Given the description of an element on the screen output the (x, y) to click on. 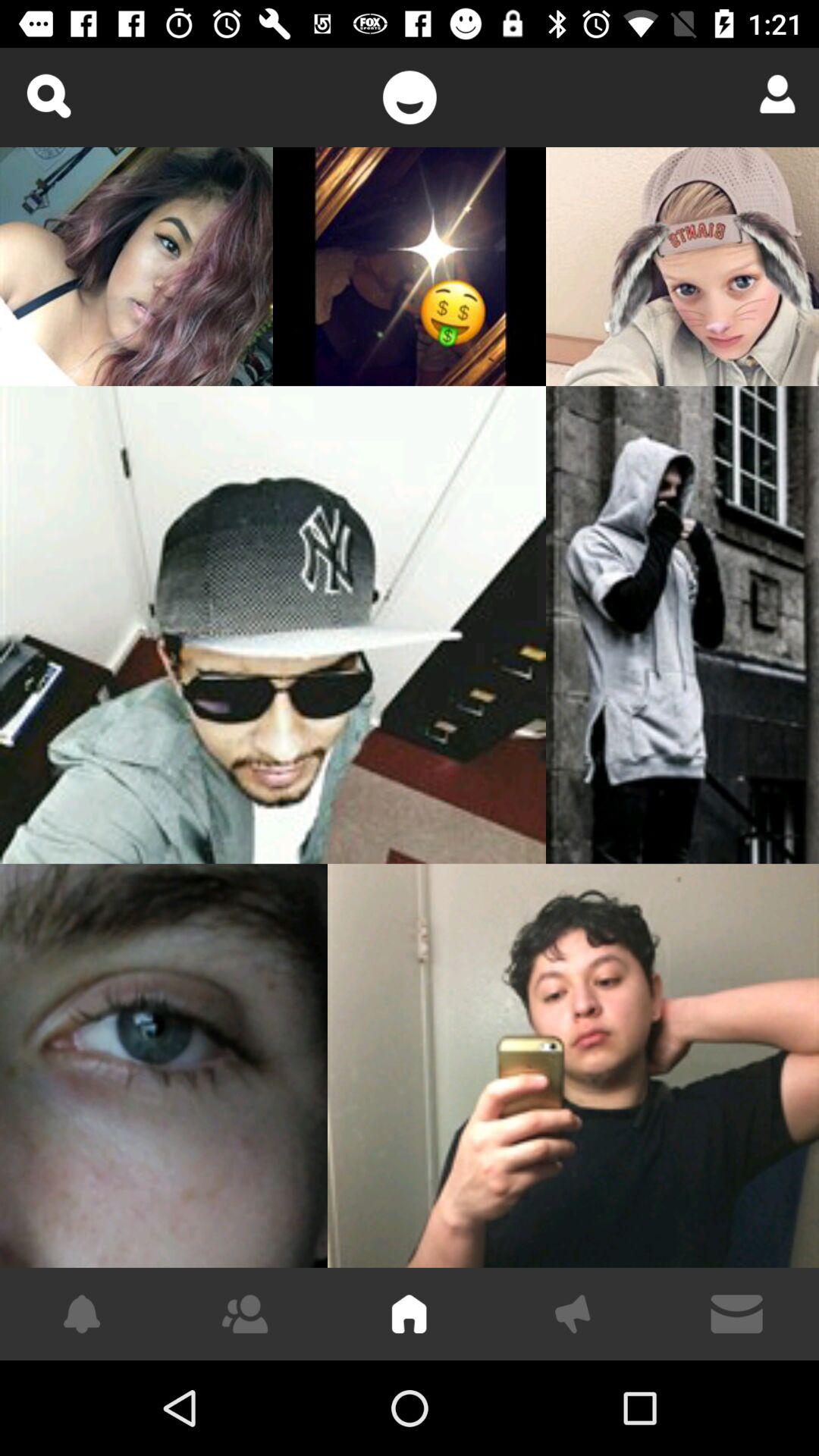
select contact (772, 93)
